Given the description of an element on the screen output the (x, y) to click on. 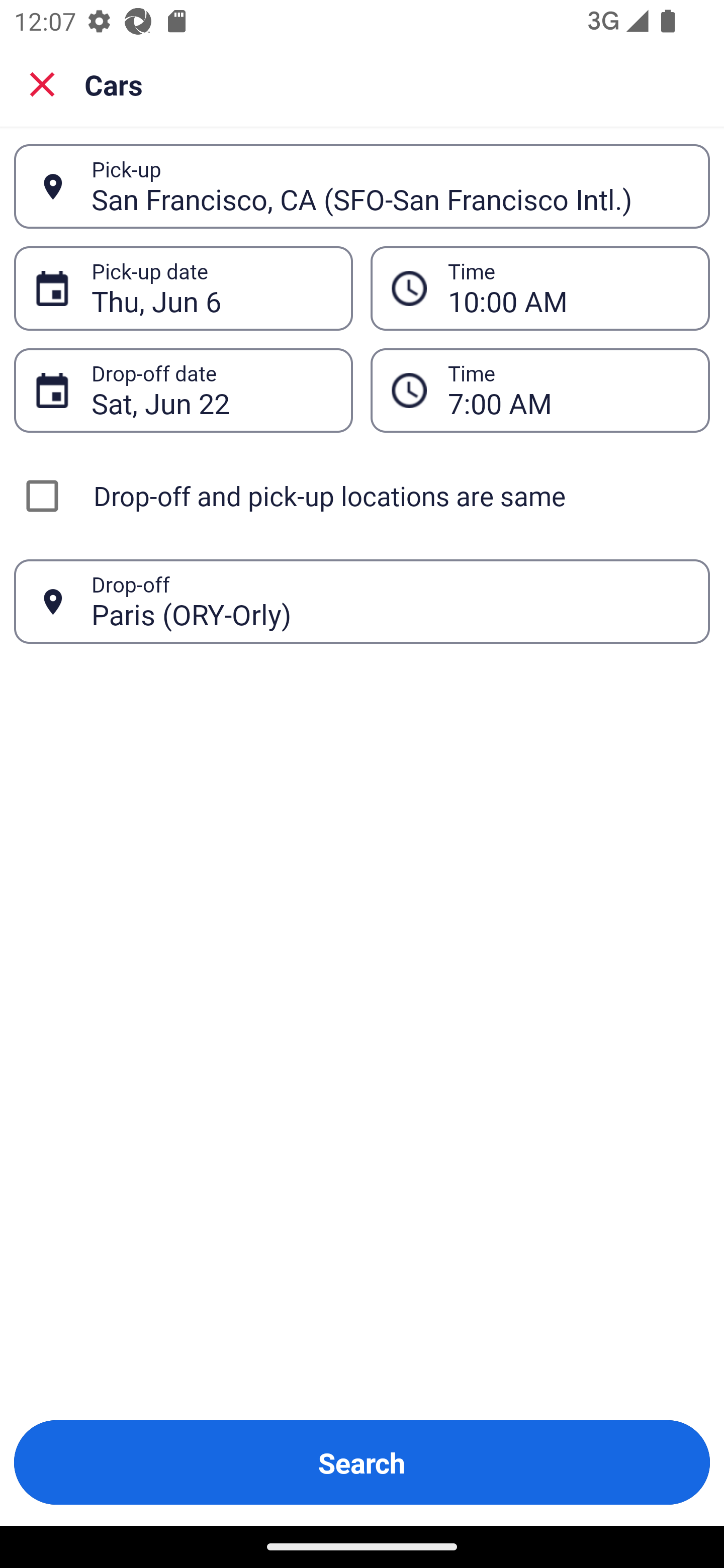
Close search screen (42, 84)
San Francisco, CA (SFO-San Francisco Intl.) (389, 186)
Thu, Jun 6 (211, 288)
10:00 AM (568, 288)
Sat, Jun 22 (211, 390)
7:00 AM (568, 390)
Drop-off and pick-up locations are same (361, 495)
Paris (ORY-Orly) (389, 601)
Search Button Search (361, 1462)
